Given the description of an element on the screen output the (x, y) to click on. 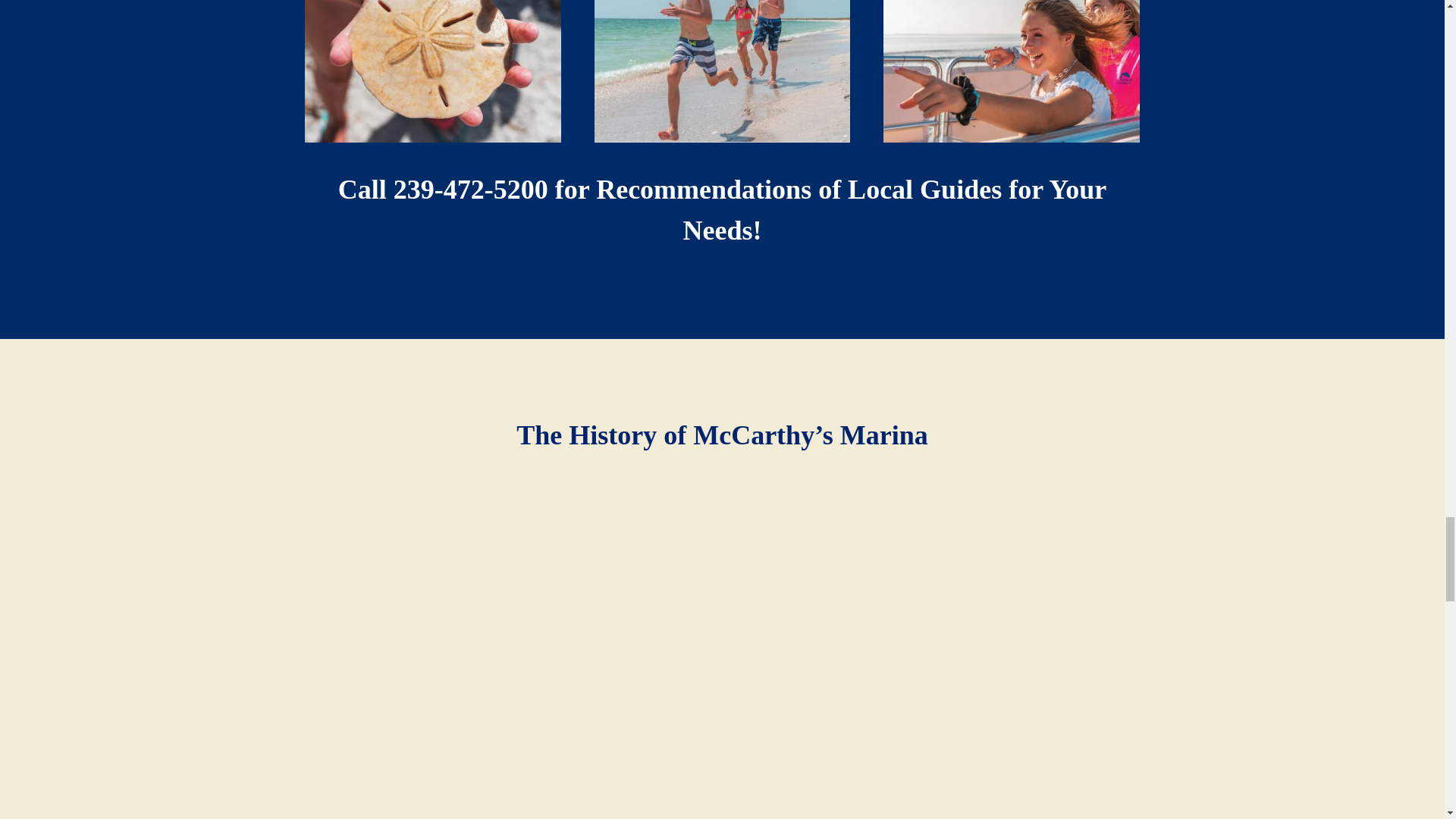
tw-women-on-boat-pointing (1010, 71)
sand-dollar-in-hand (432, 71)
children-running-on-beach (722, 71)
